Given the description of an element on the screen output the (x, y) to click on. 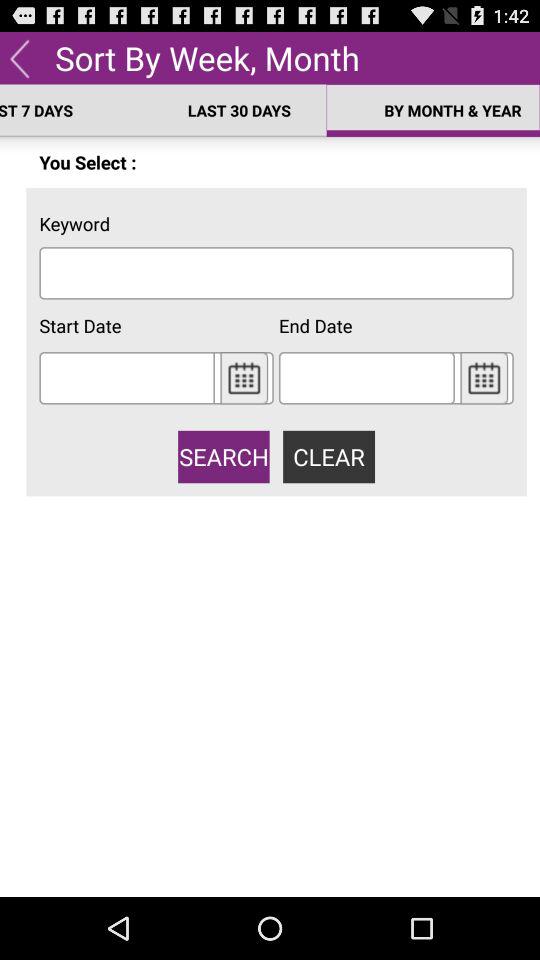
open calendar (483, 377)
